Given the description of an element on the screen output the (x, y) to click on. 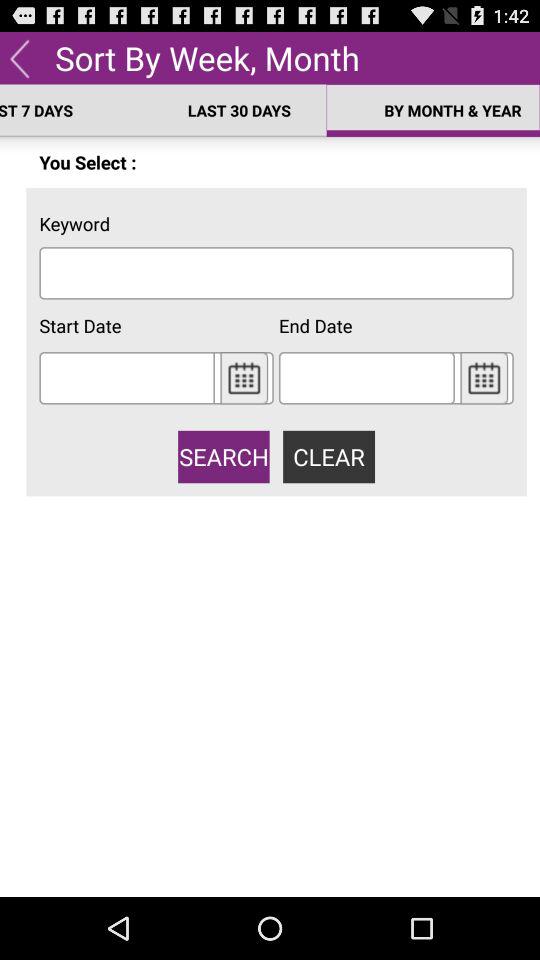
open calendar (483, 377)
